Given the description of an element on the screen output the (x, y) to click on. 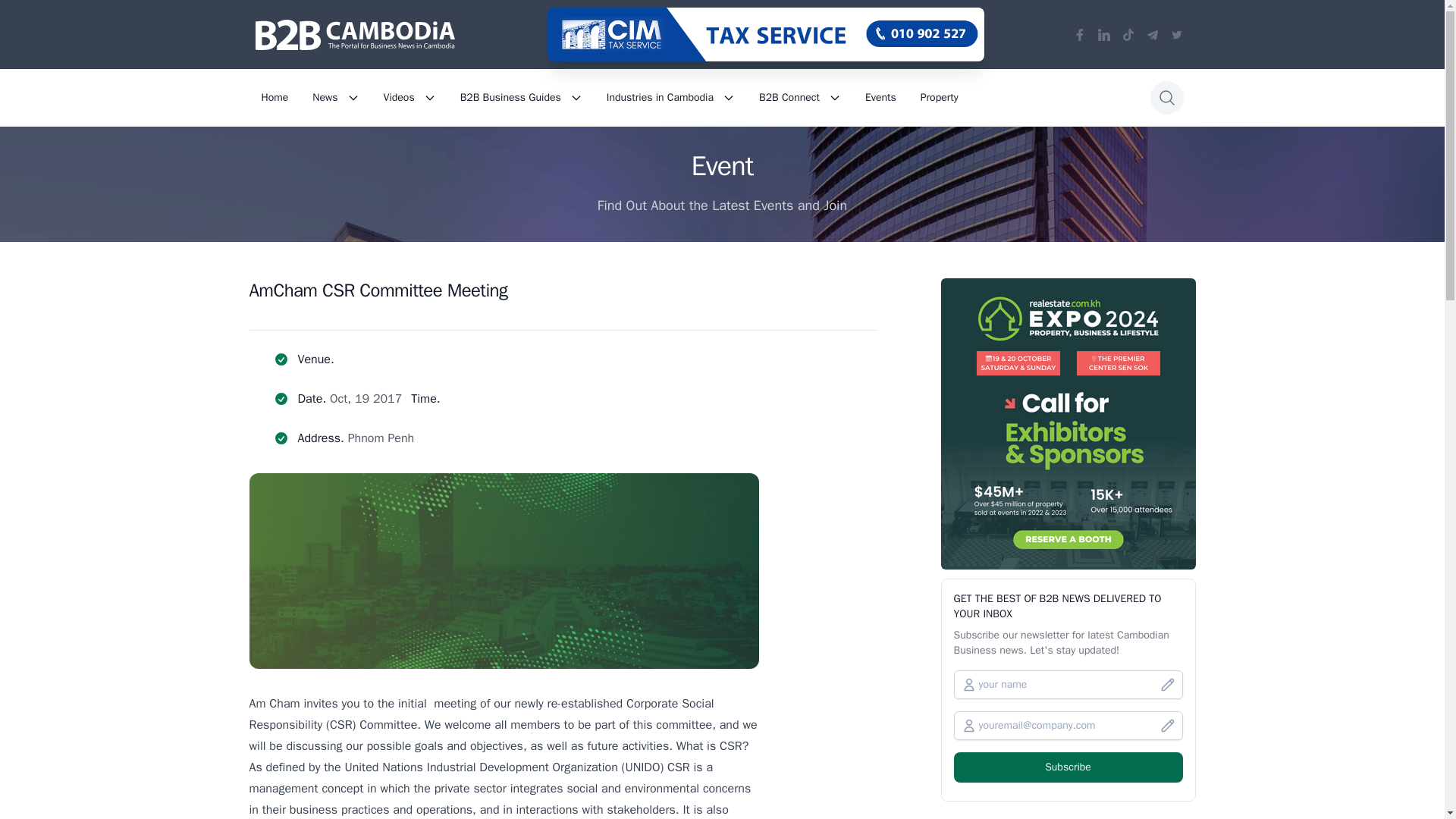
Videos (409, 97)
Home (274, 97)
News (335, 97)
Industries in Cambodia (671, 97)
B2B Business Guides (521, 97)
